Given the description of an element on the screen output the (x, y) to click on. 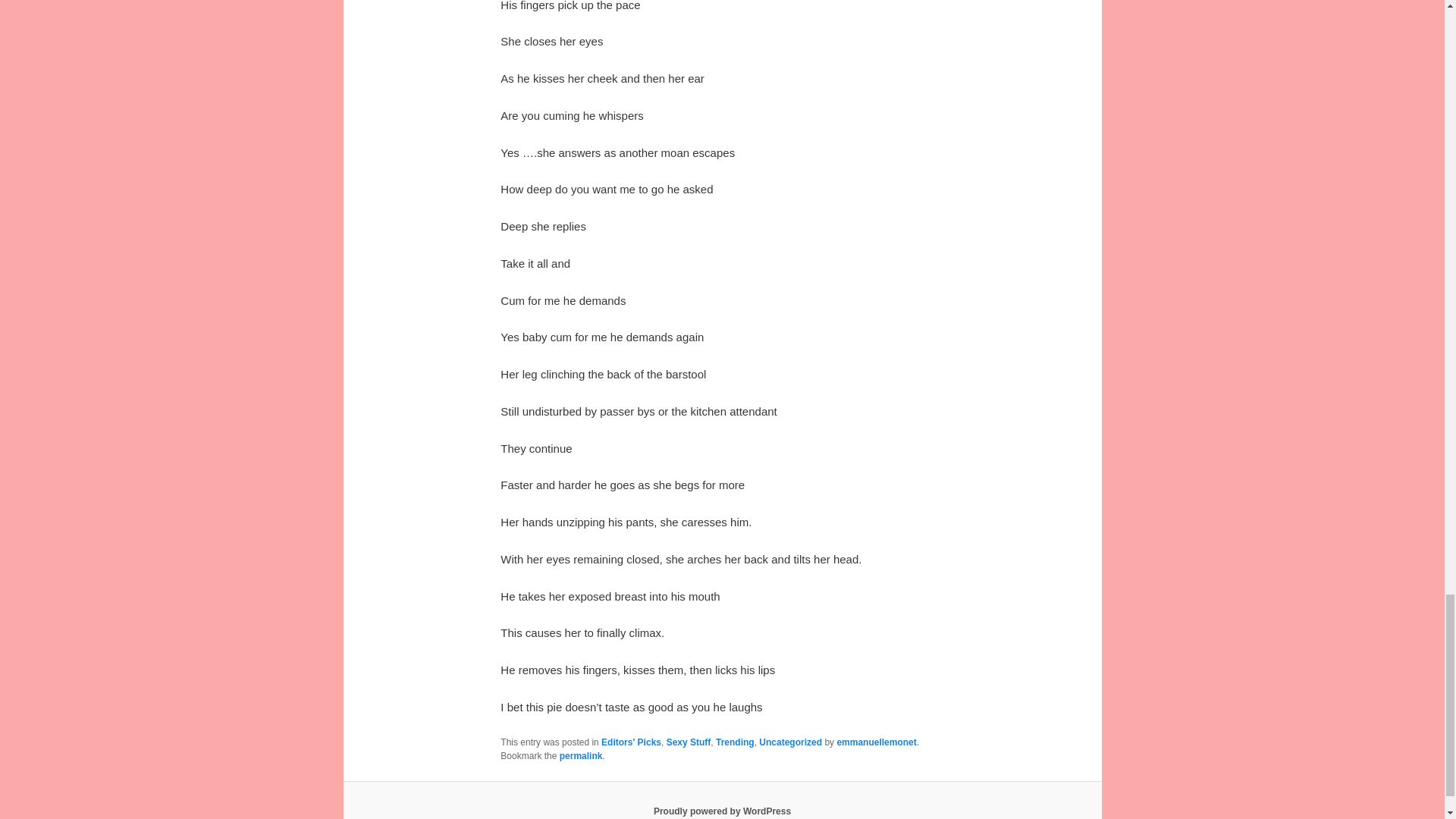
emmanuellemonet (875, 742)
Uncategorized (790, 742)
Editors' Picks (631, 742)
Trending (735, 742)
Semantic Personal Publishing Platform (721, 810)
Permalink to A 3 a.m Breakfast and Climax (580, 756)
Proudly powered by WordPress (721, 810)
permalink (580, 756)
Sexy Stuff (688, 742)
